Given the description of an element on the screen output the (x, y) to click on. 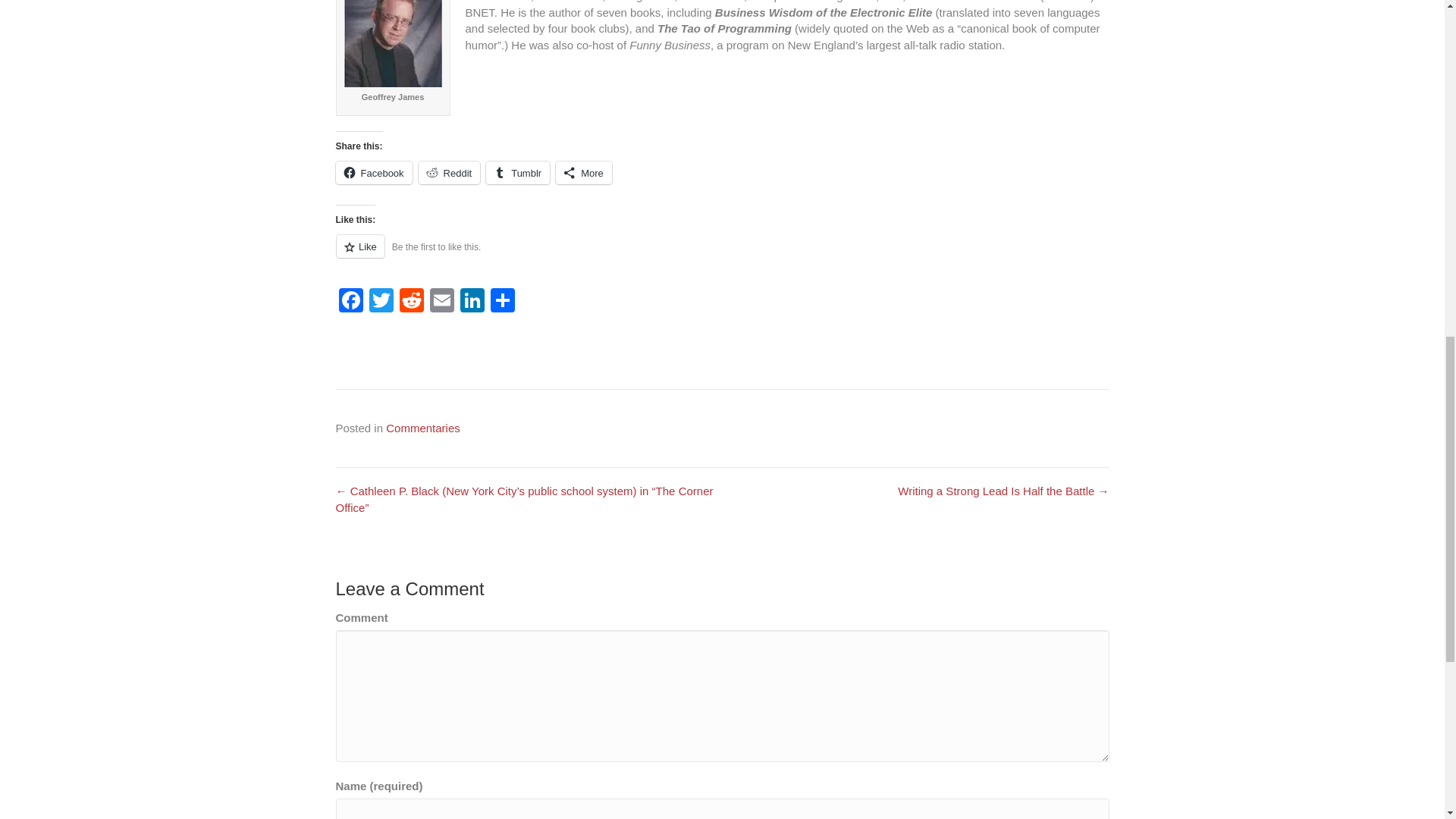
Facebook (349, 302)
Reddit (449, 172)
Click to share on Facebook (373, 172)
Twitter (380, 302)
More (583, 172)
Reddit (411, 302)
Facebook (373, 172)
Facebook (349, 302)
Twitter (380, 302)
LinkedIn (471, 302)
